Given the description of an element on the screen output the (x, y) to click on. 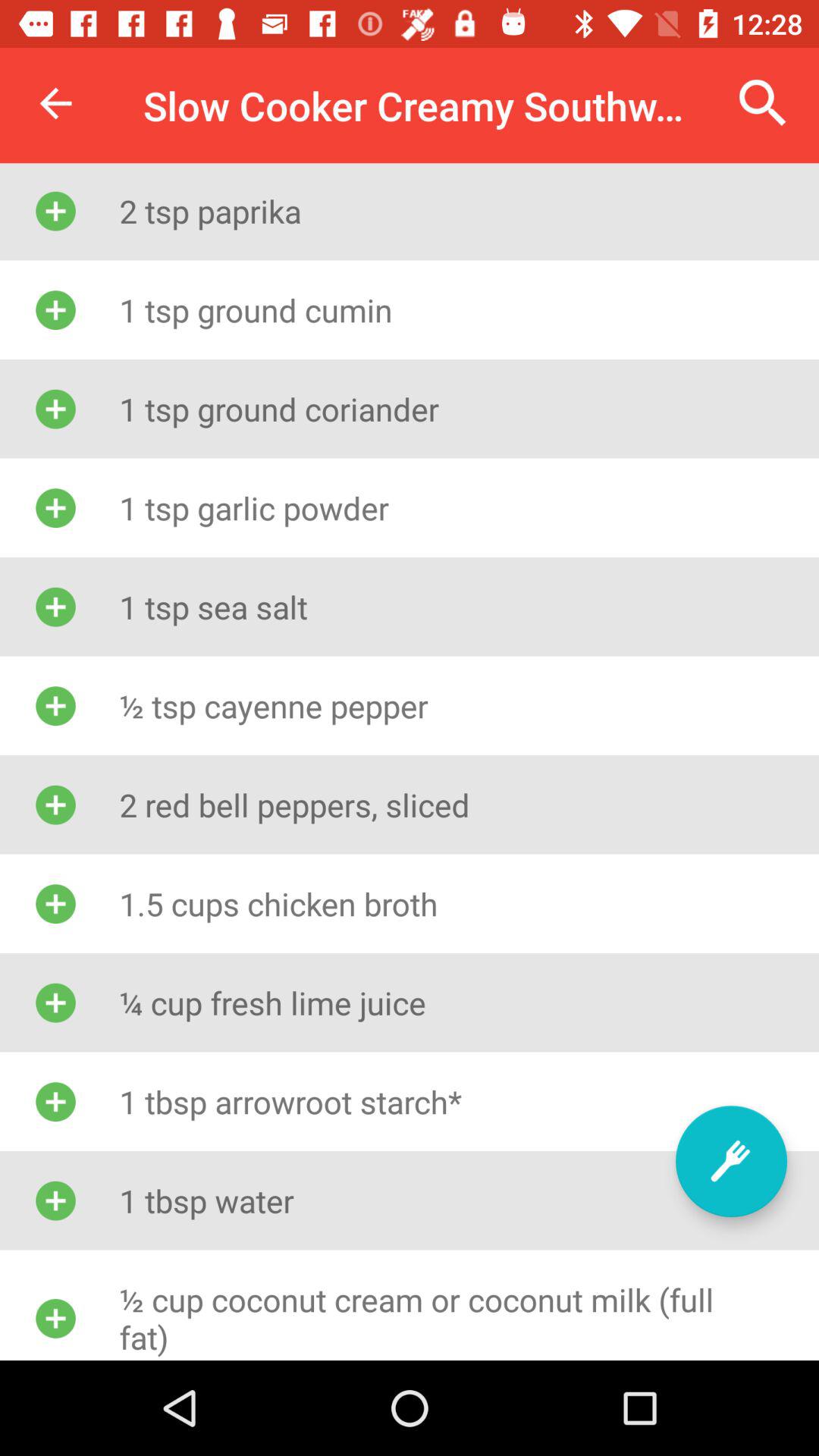
choose item next to slow cooker creamy item (763, 103)
